Given the description of an element on the screen output the (x, y) to click on. 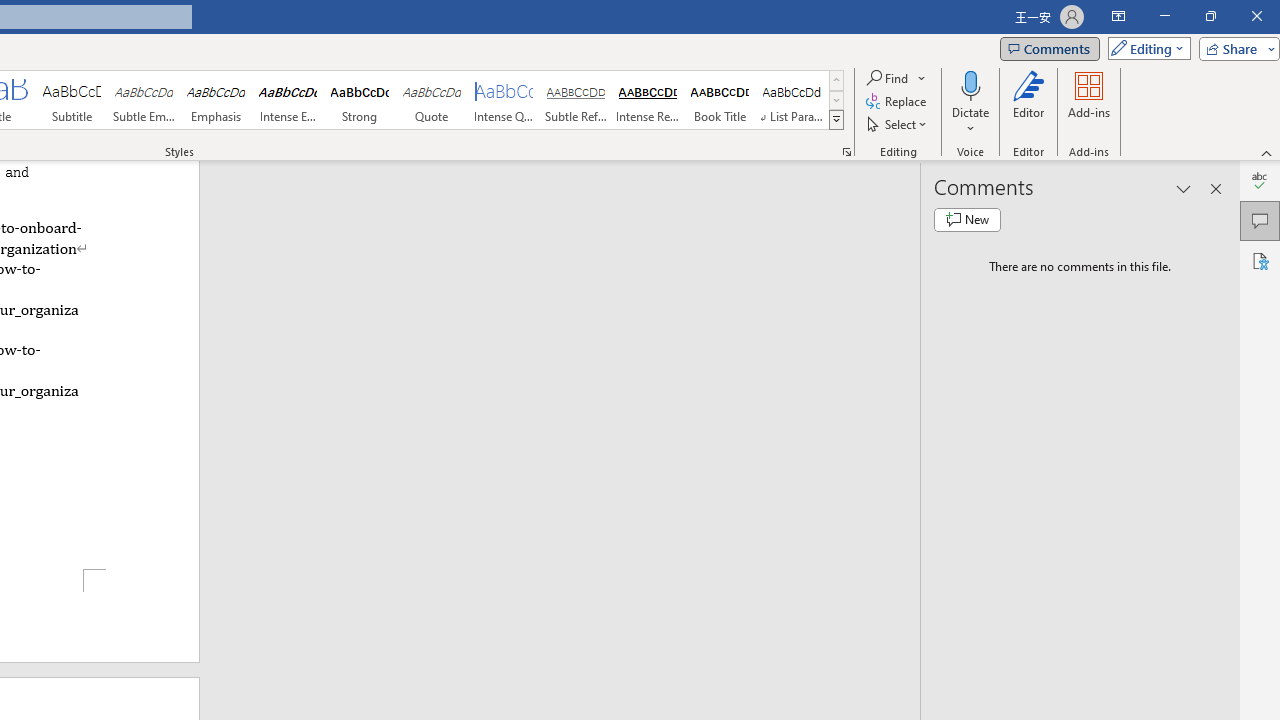
Strong (359, 100)
Intense Quote (504, 100)
Task Pane Options (1183, 188)
Subtle Emphasis (143, 100)
Ribbon Display Options (1118, 16)
Class: NetUIImage (836, 119)
Editing (1144, 47)
Restore Down (1210, 16)
Subtitle (71, 100)
Editor (1028, 102)
Emphasis (216, 100)
Subtle Reference (575, 100)
Row up (836, 79)
Close pane (1215, 188)
